Given the description of an element on the screen output the (x, y) to click on. 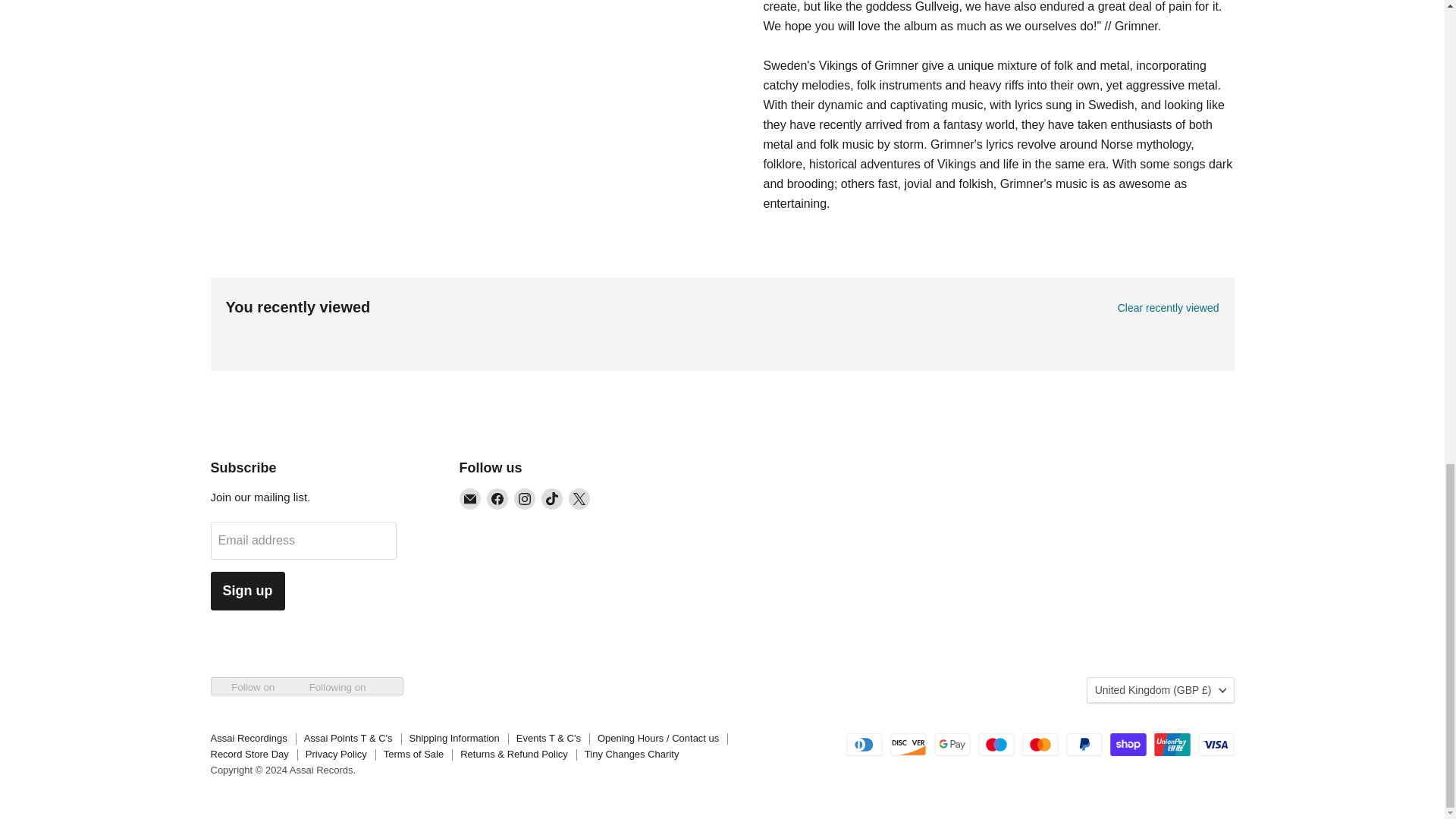
X (579, 498)
Instagram (524, 498)
TikTok (551, 498)
Facebook (497, 498)
E-mail (470, 498)
